Given the description of an element on the screen output the (x, y) to click on. 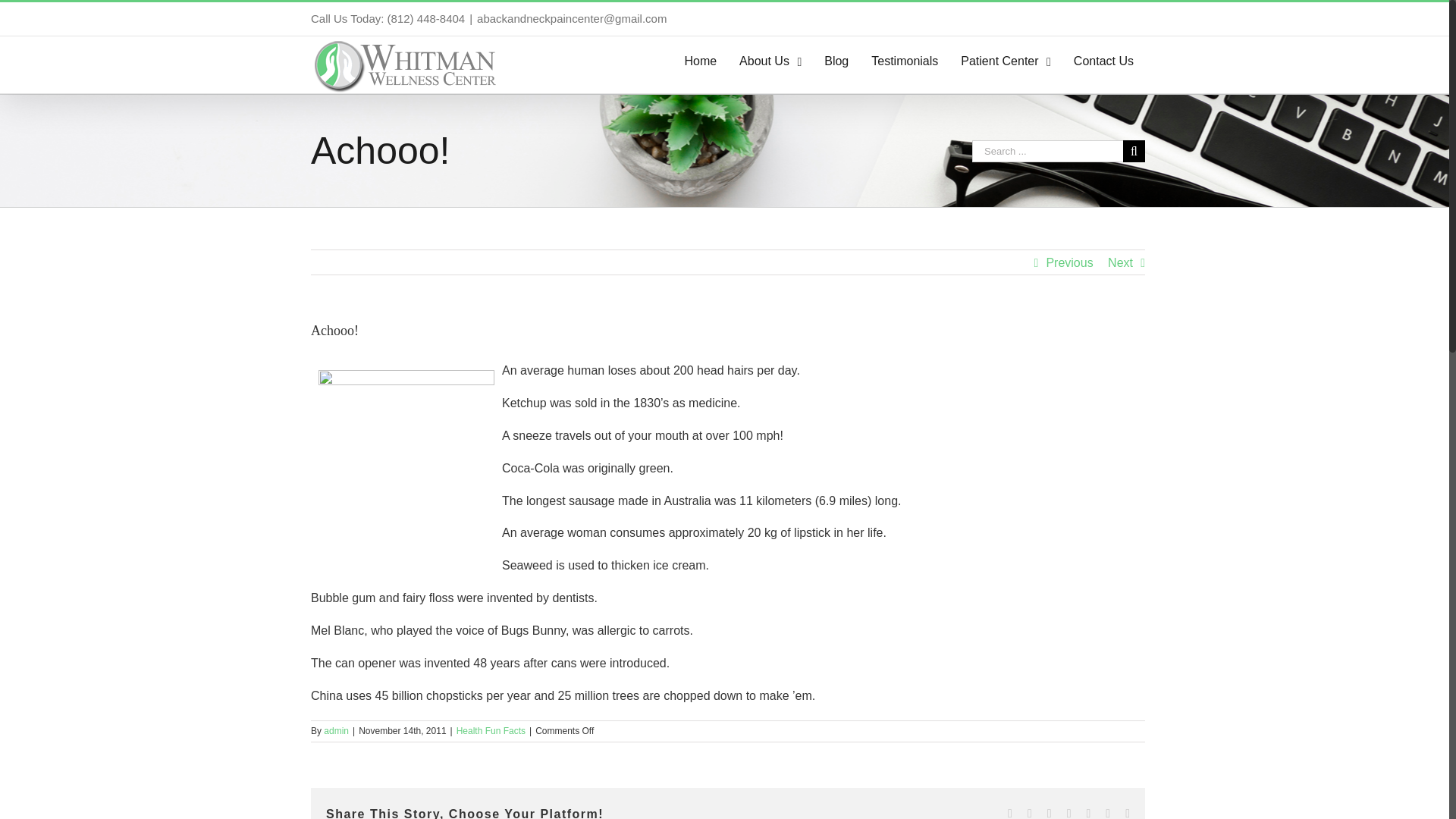
Testimonials (904, 60)
Health Fun Facts (491, 730)
admin (336, 730)
About Us (770, 60)
Blog (836, 60)
Previous (1069, 263)
Contact Us (1103, 60)
Patient Center (1005, 60)
Next (1120, 263)
Home (700, 60)
